Given the description of an element on the screen output the (x, y) to click on. 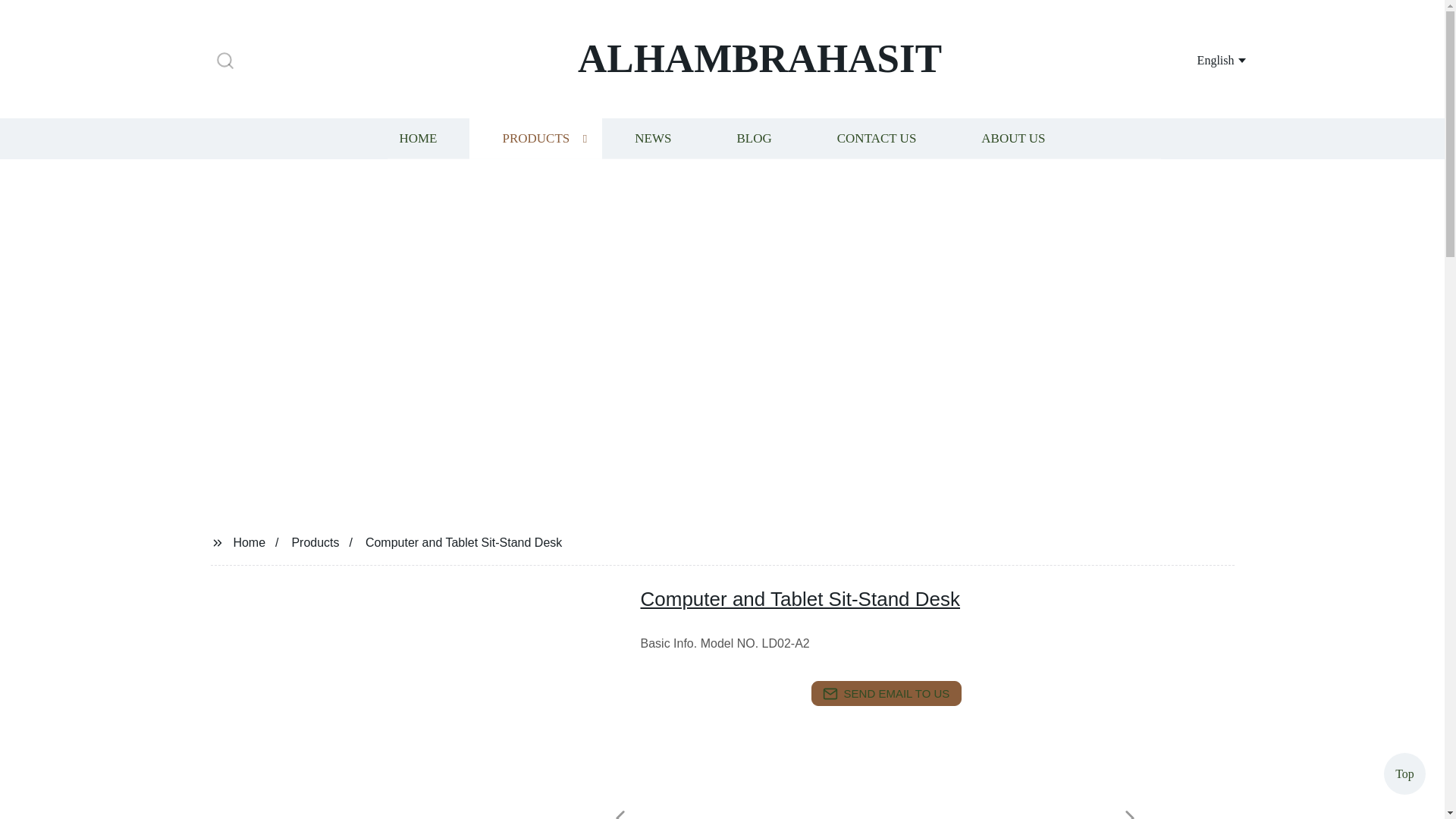
Home (248, 541)
Products (315, 541)
HOME (417, 137)
SEND EMAIL TO US (885, 692)
CONTACT US (877, 137)
NEWS (652, 137)
BLOG (753, 137)
English (1203, 59)
PRODUCTS (535, 137)
ABOUT US (1013, 137)
